Given the description of an element on the screen output the (x, y) to click on. 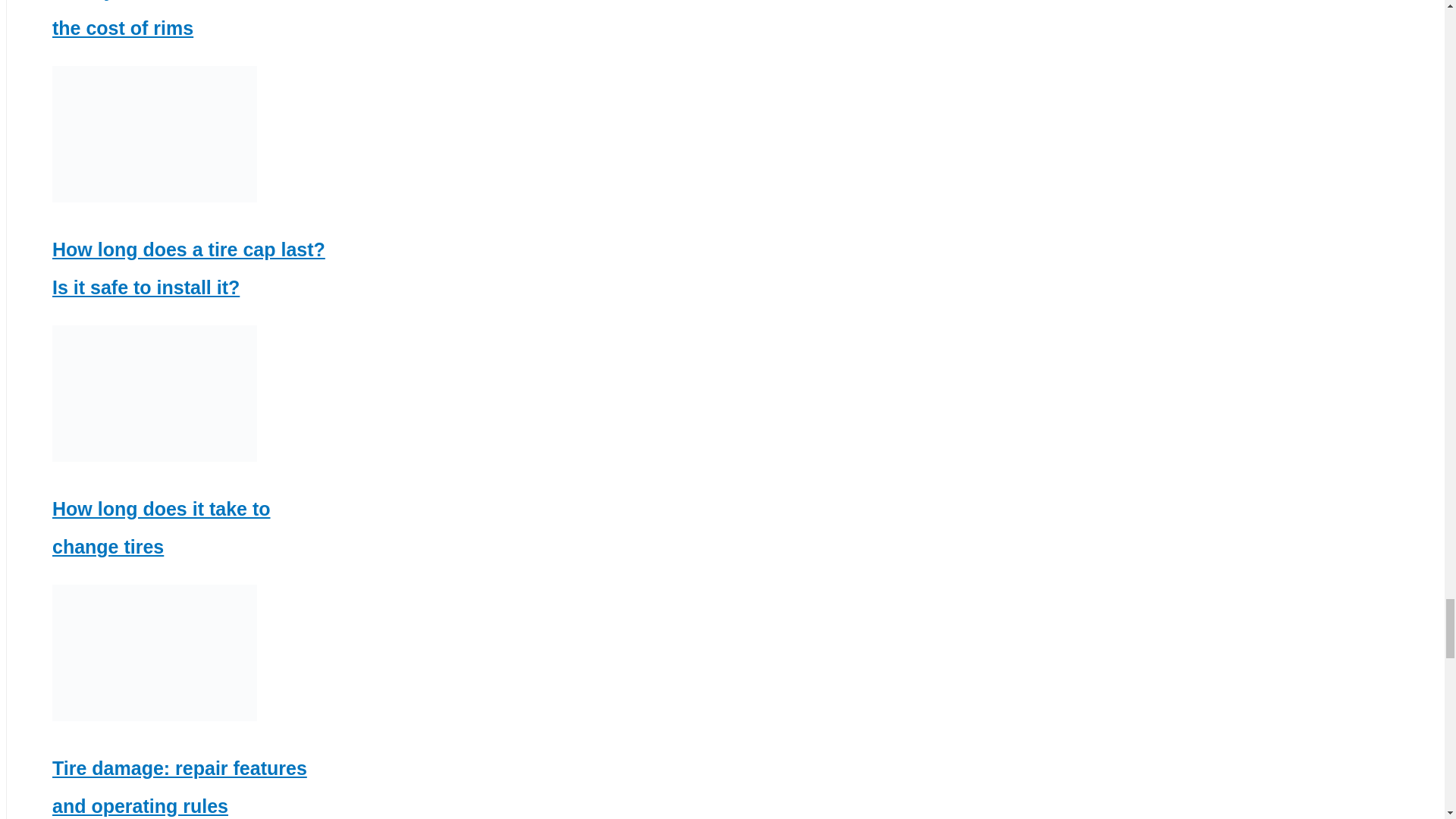
How long does a tire cap last? Is it safe to install it? (188, 268)
What you need to know about the cost of rims (186, 19)
Tire damage: repair features and operating rules (179, 786)
How long does it take to change tires (161, 527)
